Given the description of an element on the screen output the (x, y) to click on. 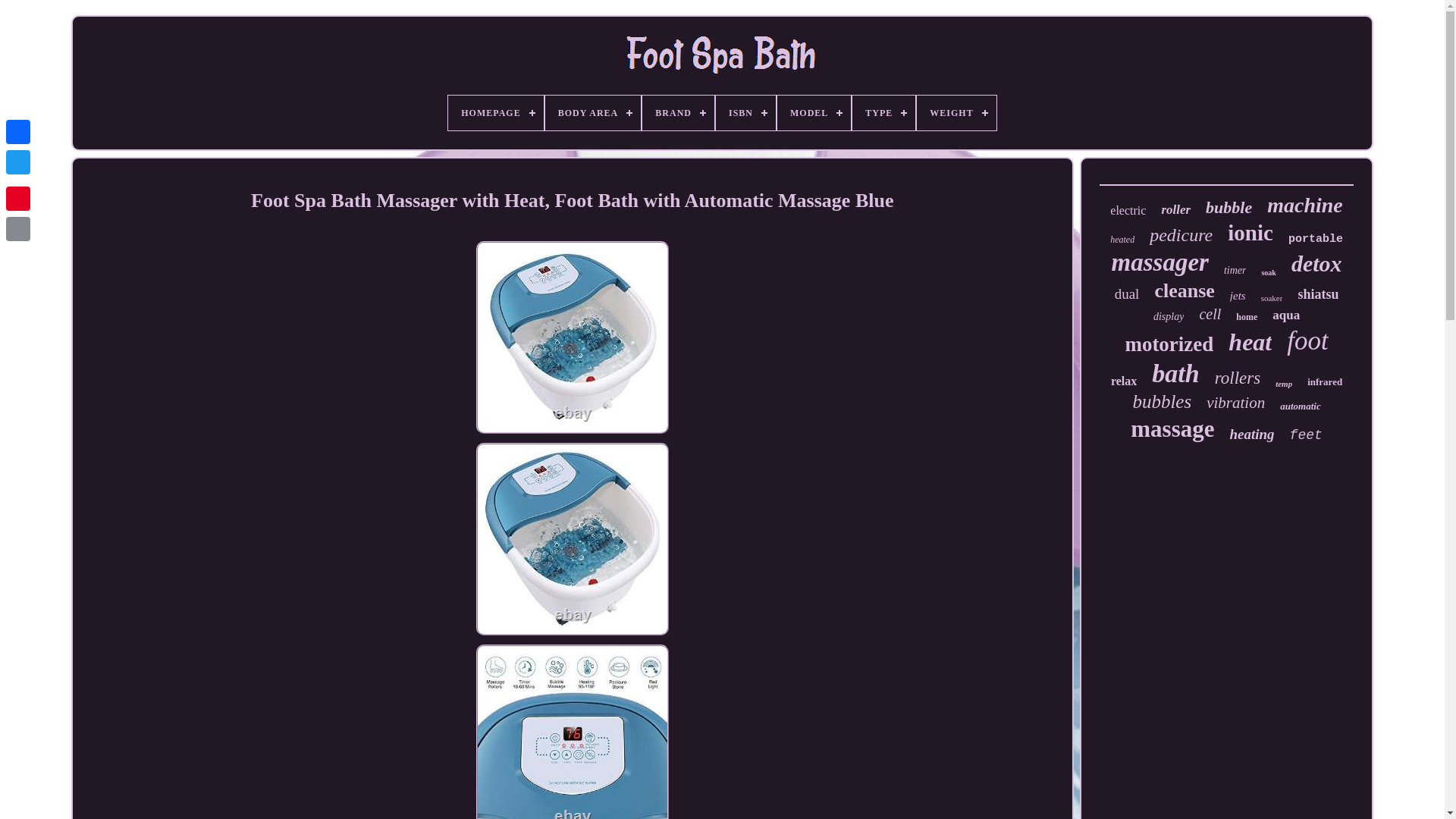
BODY AREA (593, 112)
HOMEPAGE (495, 112)
BRAND (678, 112)
